Given the description of an element on the screen output the (x, y) to click on. 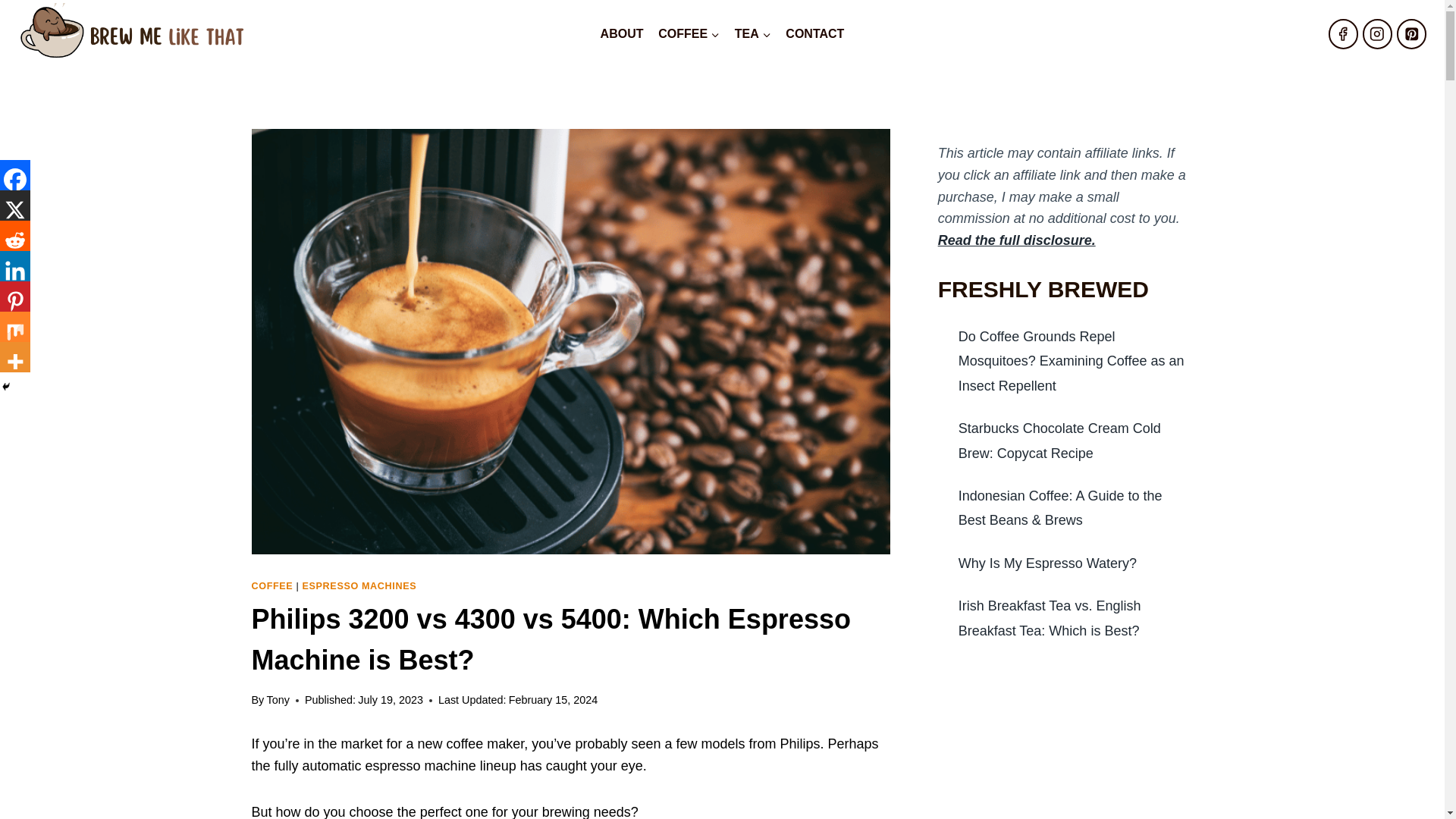
ABOUT (621, 33)
ESPRESSO MACHINES (359, 585)
CONTACT (814, 33)
COFFEE (688, 33)
TEA (752, 33)
COFFEE (272, 585)
